Given the description of an element on the screen output the (x, y) to click on. 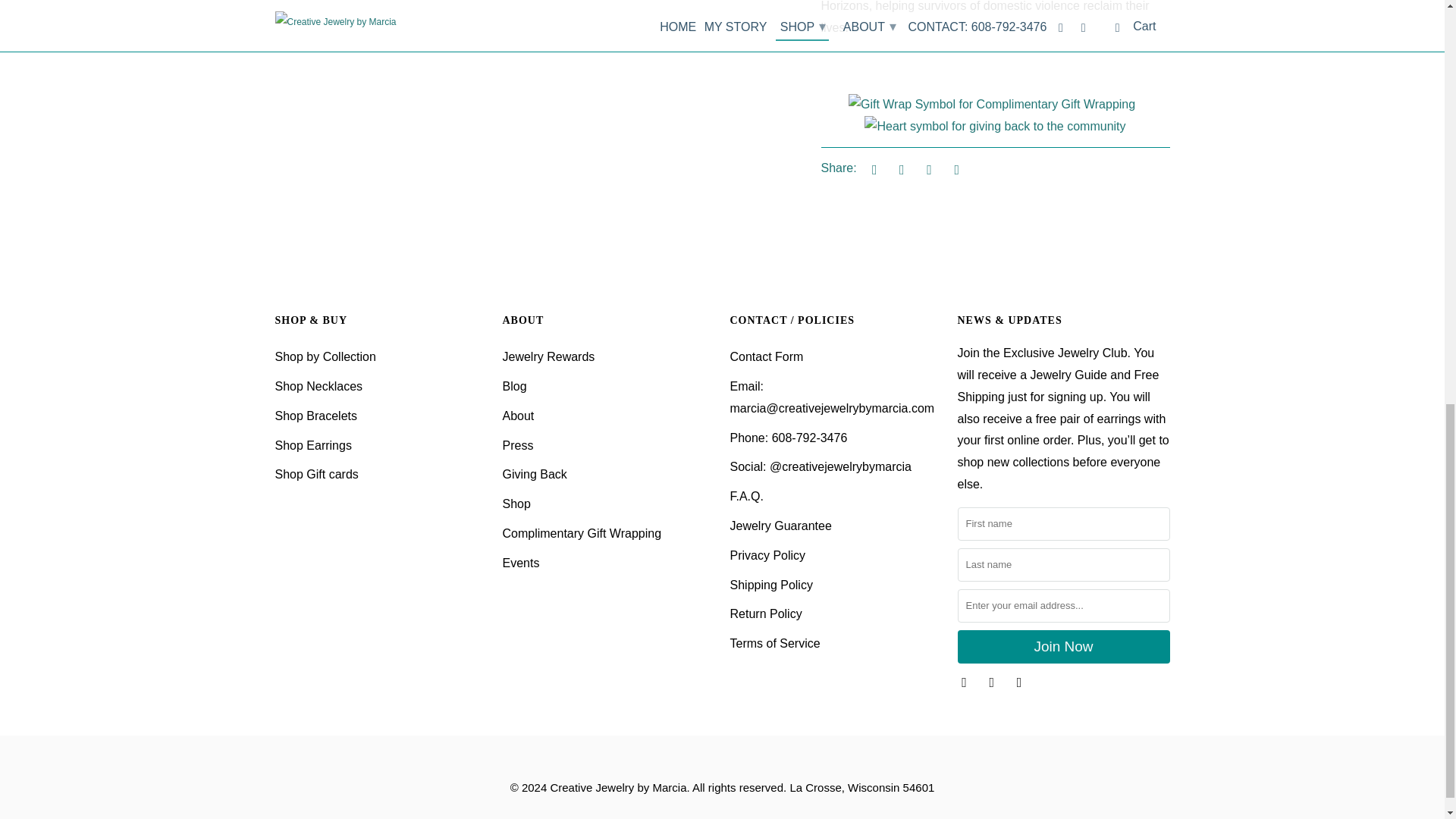
Join Now (1062, 646)
Share this on Facebook (898, 168)
Share this on Twitter (871, 168)
Email  Creative Jewelry by Marcia (1020, 681)
 Creative Jewelry by Marcia on Instagram (993, 681)
Share this on Pinterest (927, 168)
Email this to a friend (954, 168)
 Creative Jewelry by Marcia on Facebook (965, 681)
